Given the description of an element on the screen output the (x, y) to click on. 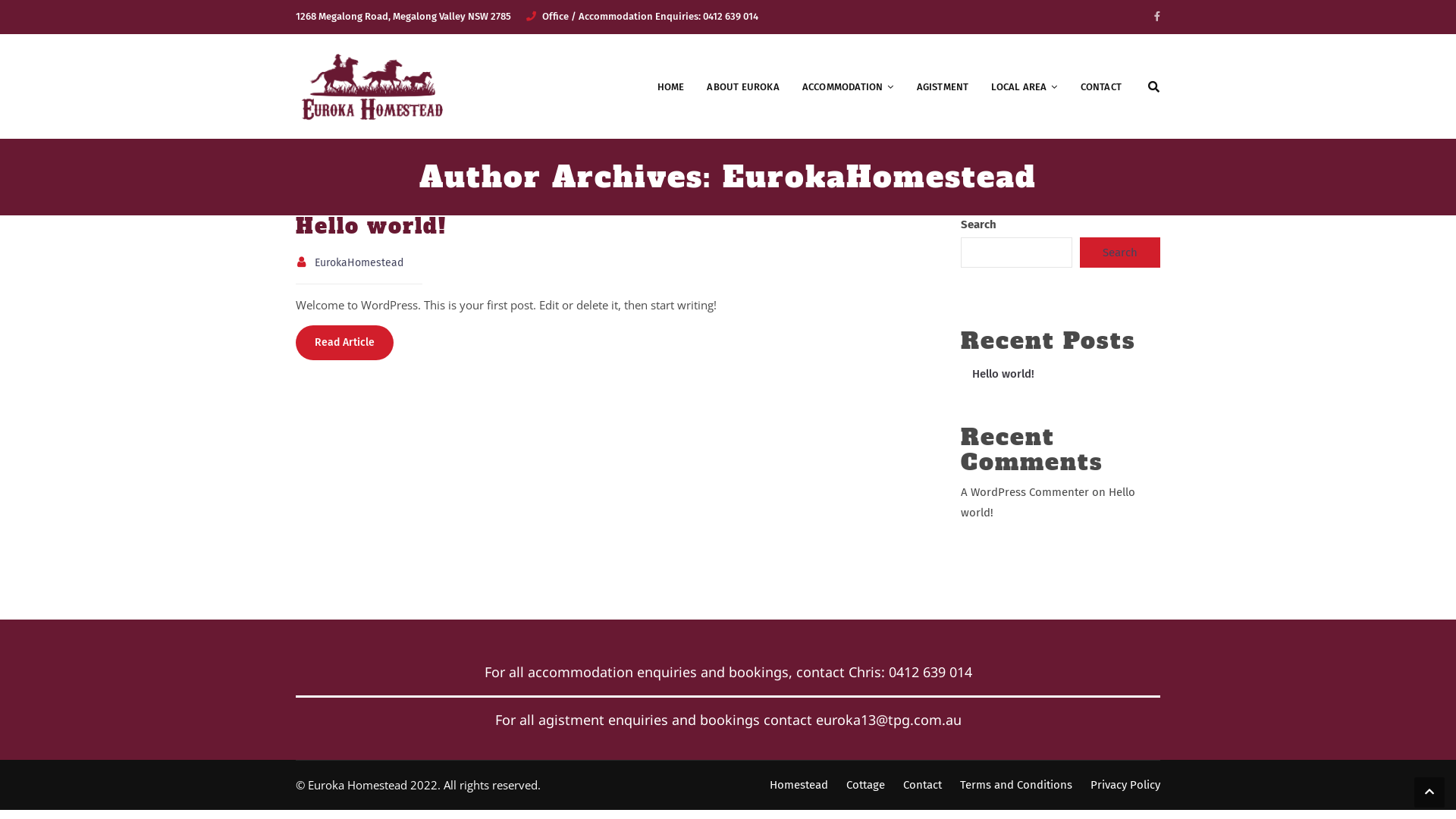
Contact Element type: text (922, 784)
Hello world! Element type: text (1047, 502)
LOCAL AREA Element type: text (1023, 87)
https://www.facebook.com/eurokahorseriding Element type: hover (1157, 15)
Cottage Element type: text (865, 784)
Euroka Homestead Element type: hover (371, 85)
CONTACT Element type: text (1100, 87)
Privacy Policy Element type: text (1125, 784)
Read Article Element type: text (344, 342)
HOME Element type: text (671, 87)
Search Element type: text (1119, 252)
ABOUT EUROKA Element type: text (742, 87)
ACCOMMODATION Element type: text (847, 87)
Hello world! Element type: text (1003, 373)
Search Element type: text (1139, 152)
A WordPress Commenter Element type: text (1024, 491)
Terms and Conditions Element type: text (1016, 784)
AGISTMENT Element type: text (942, 87)
EurokaHomestead Element type: text (358, 262)
Hello world! Element type: text (370, 226)
Homestead Element type: text (798, 784)
